Given the description of an element on the screen output the (x, y) to click on. 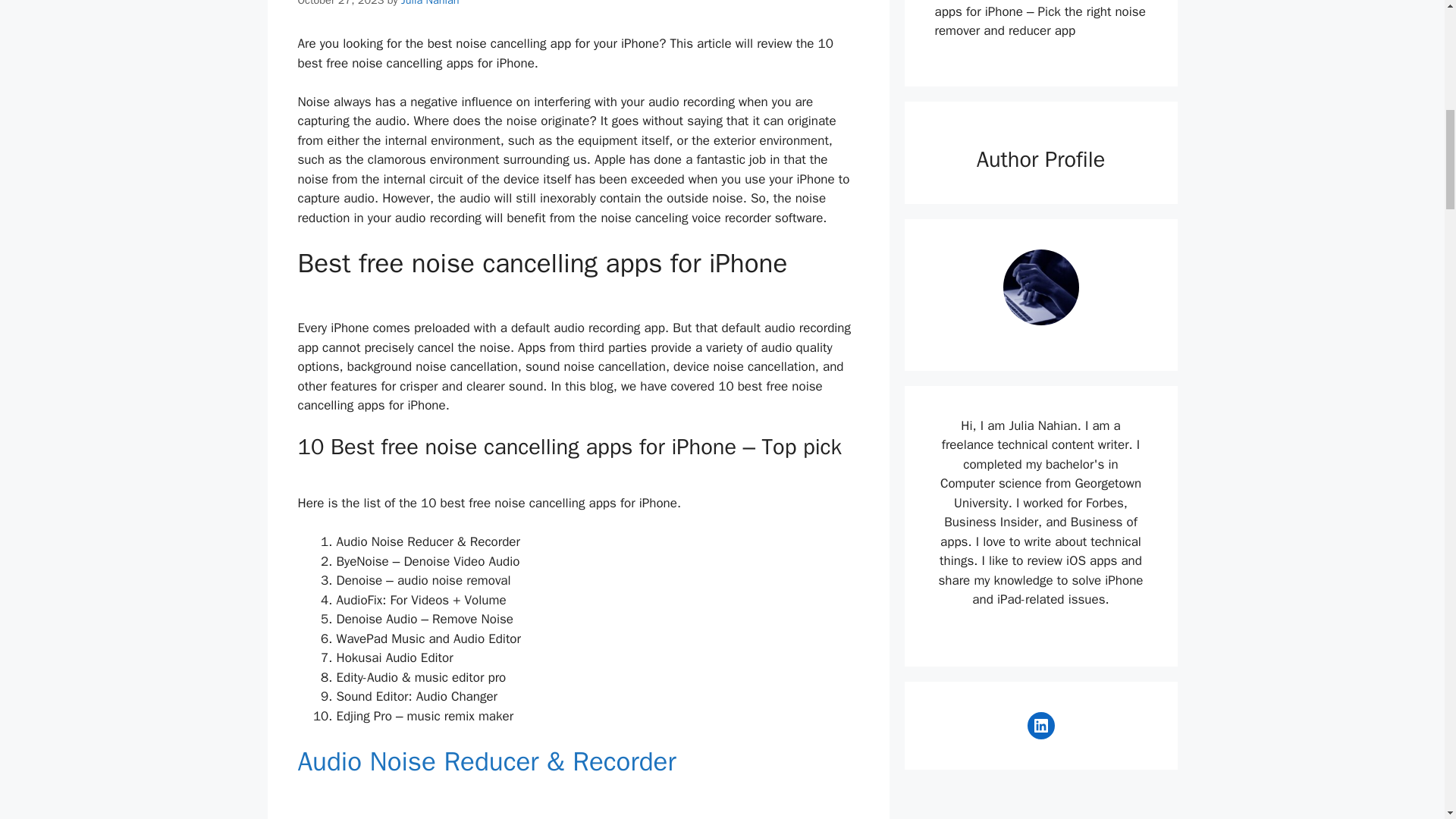
LinkedIn (1040, 725)
Julia Nahian (430, 2)
View all posts by Julia Nahian (430, 2)
